Given the description of an element on the screen output the (x, y) to click on. 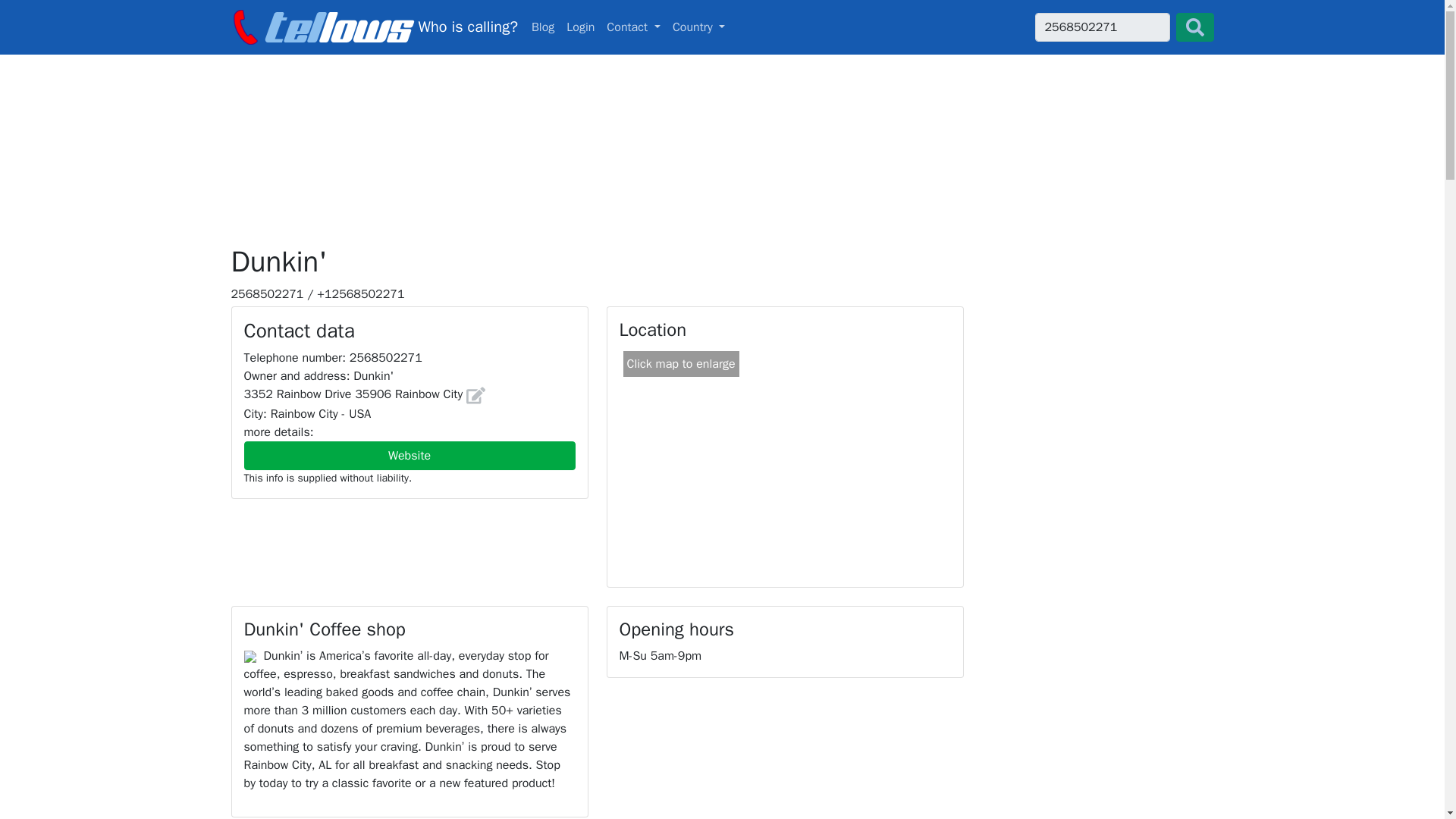
2568502271 (1101, 27)
Country (699, 27)
Who is calling? (373, 26)
Login (579, 27)
Contact (632, 27)
Blog (542, 27)
Blog (722, 26)
Website (542, 27)
tellows - the community for calls, phone spam and complaints (409, 455)
